Given the description of an element on the screen output the (x, y) to click on. 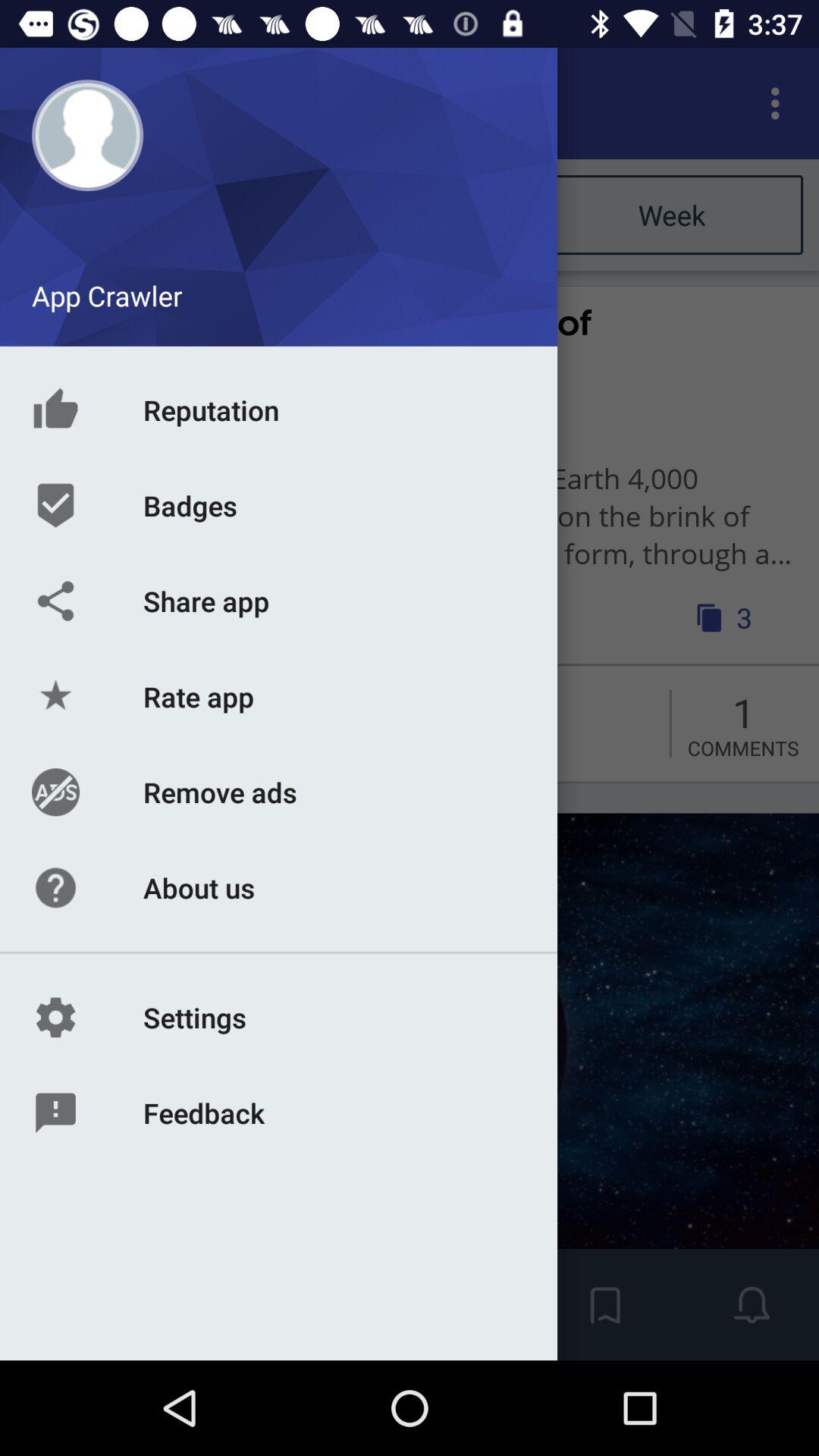
select the icon which is left side of the rate app (51, 717)
